Given the description of an element on the screen output the (x, y) to click on. 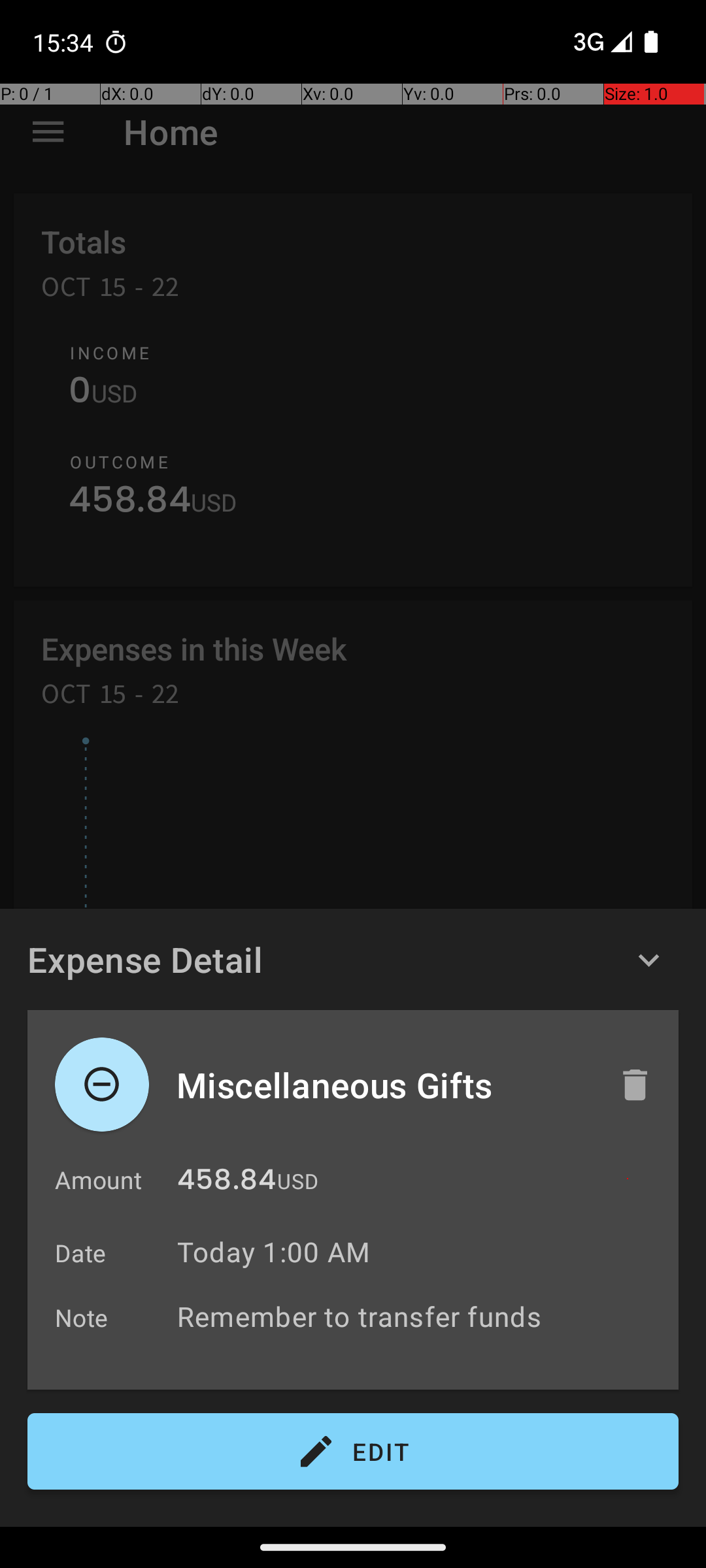
Miscellaneous Gifts Element type: android.widget.TextView (383, 1084)
458.84 Element type: android.widget.TextView (226, 1182)
Today 1:00 AM Element type: android.widget.TextView (273, 1251)
